Given the description of an element on the screen output the (x, y) to click on. 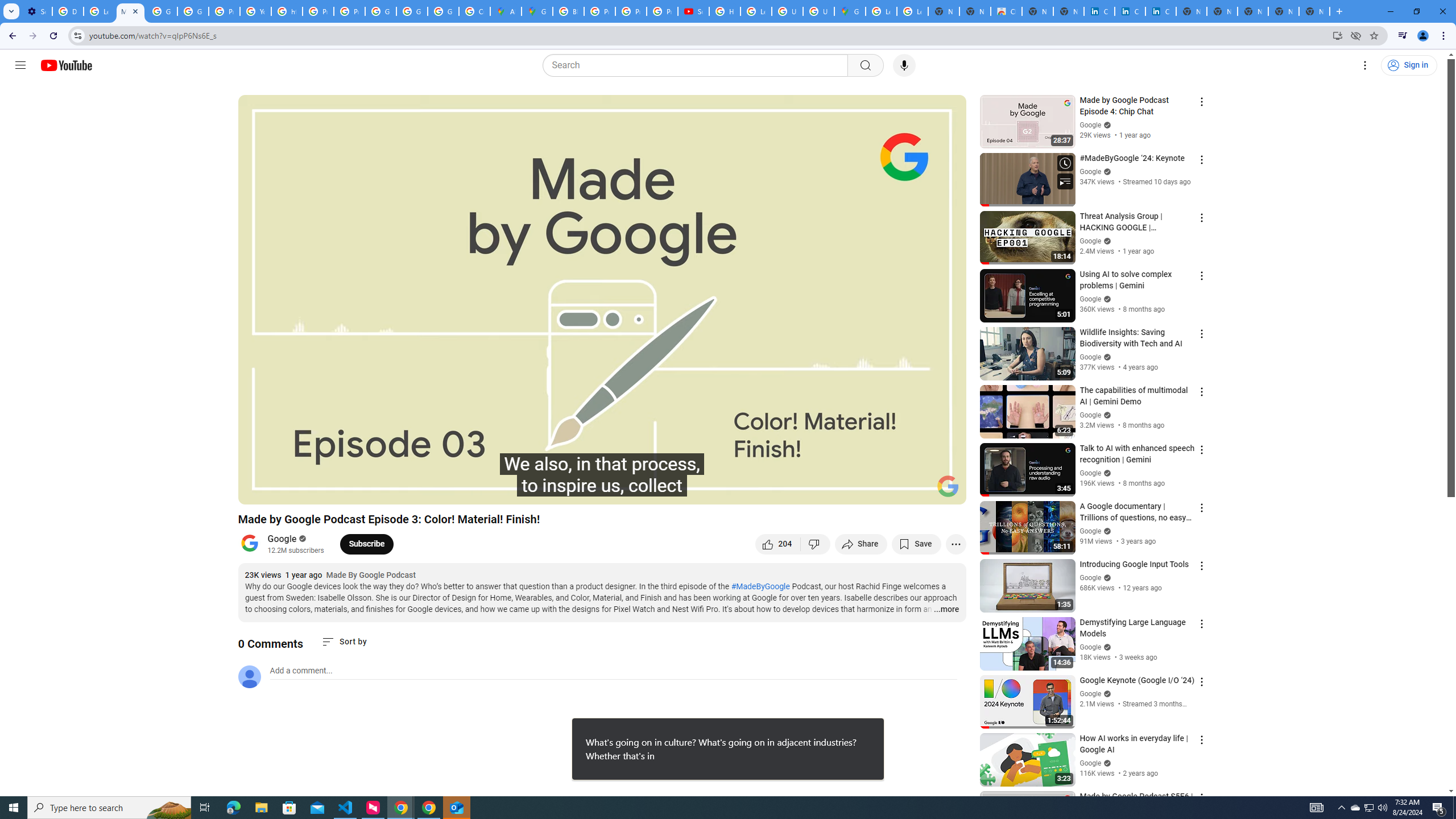
Search with your voice (903, 65)
#MadeByGoogle (760, 586)
Channel watermark (947, 486)
like this video along with 204 other people (777, 543)
Privacy Help Center - Policies Help (223, 11)
Sort comments (343, 641)
